Given the description of an element on the screen output the (x, y) to click on. 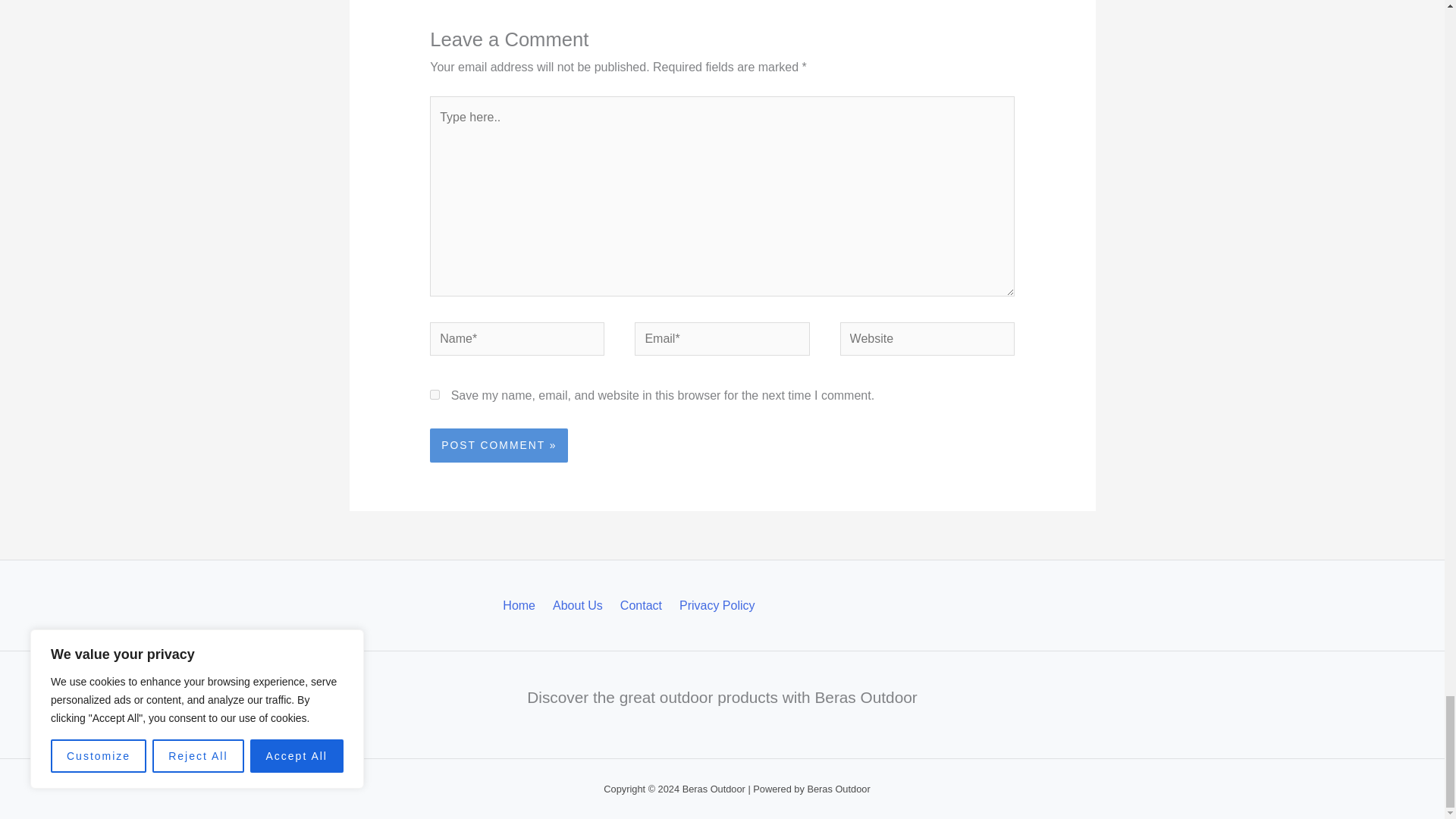
yes (434, 394)
